Given the description of an element on the screen output the (x, y) to click on. 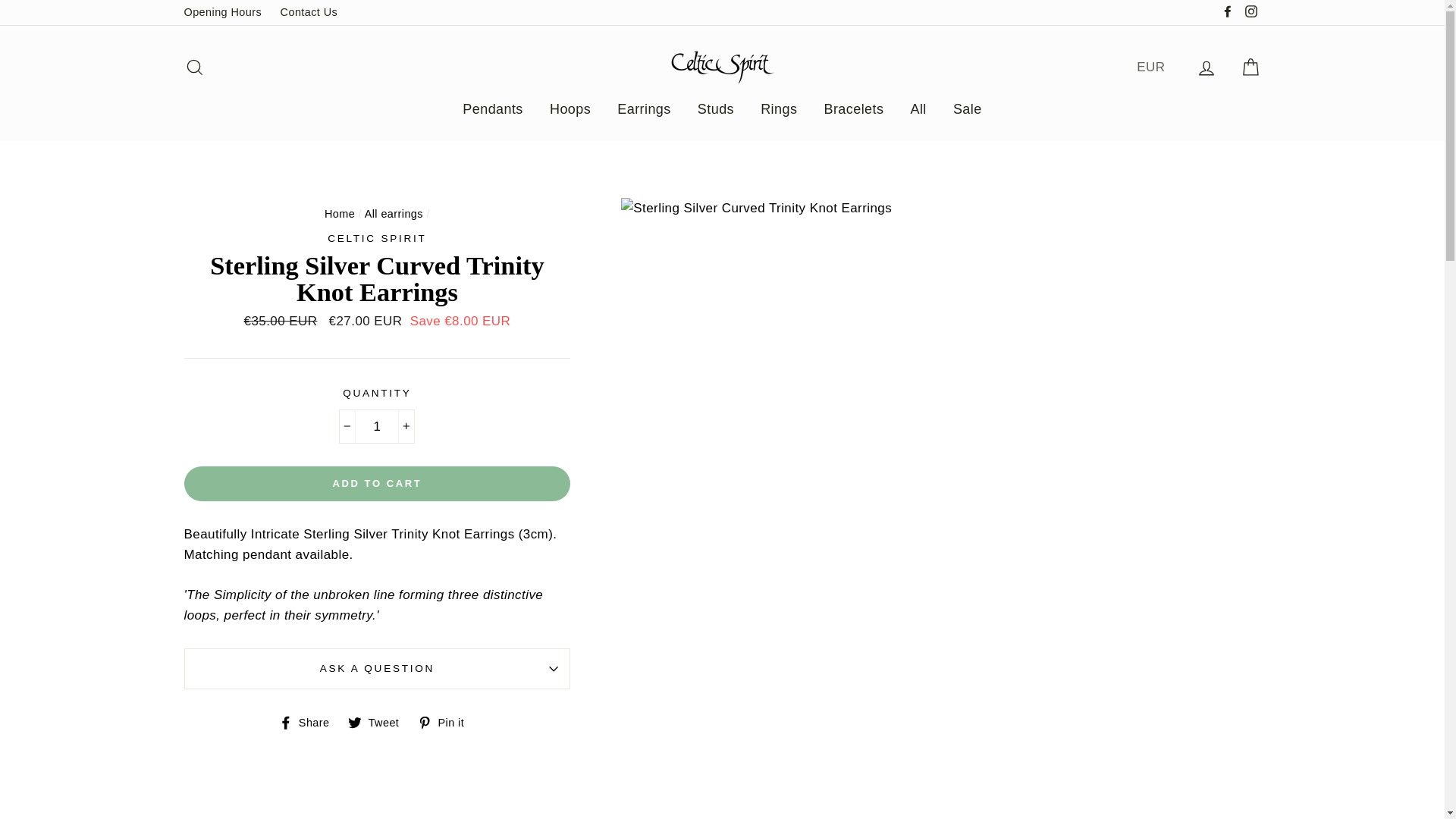
Earrings (643, 109)
Pendants (492, 109)
Bracelets (853, 109)
All (918, 109)
Opening Hours (222, 12)
Home (339, 214)
Hoops (570, 109)
Cart (1249, 66)
Studs (715, 109)
Tweet on Twitter (378, 722)
